Given the description of an element on the screen output the (x, y) to click on. 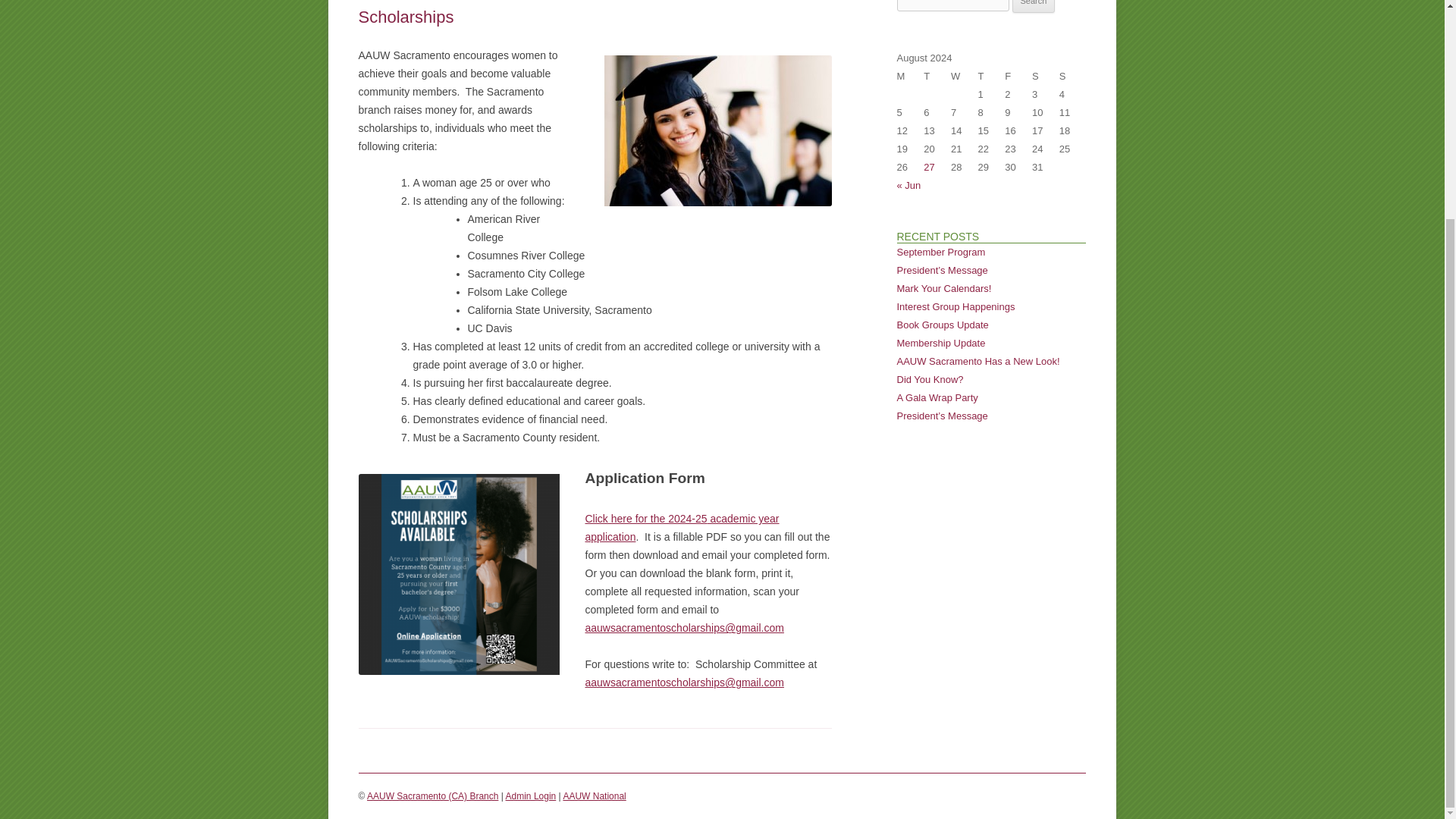
Friday (1018, 76)
Wednesday (964, 76)
Monday (909, 76)
Click here for the 2024-25 (646, 518)
Thursday (992, 76)
Search (1033, 6)
Search (1033, 6)
27 (928, 166)
Tuesday (936, 76)
Saturday (1045, 76)
